Given the description of an element on the screen output the (x, y) to click on. 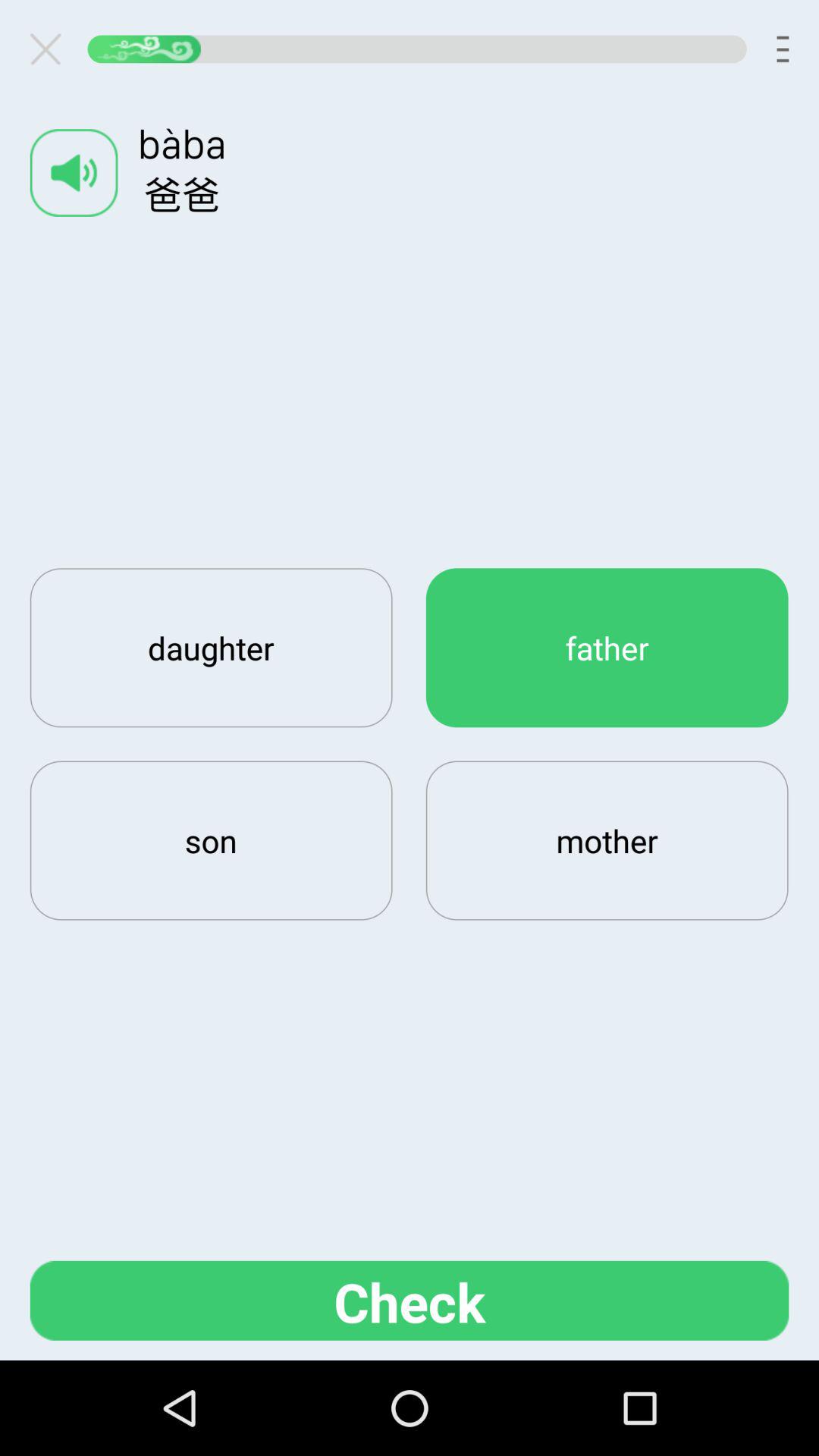
close exit or clear (51, 49)
